Given the description of an element on the screen output the (x, y) to click on. 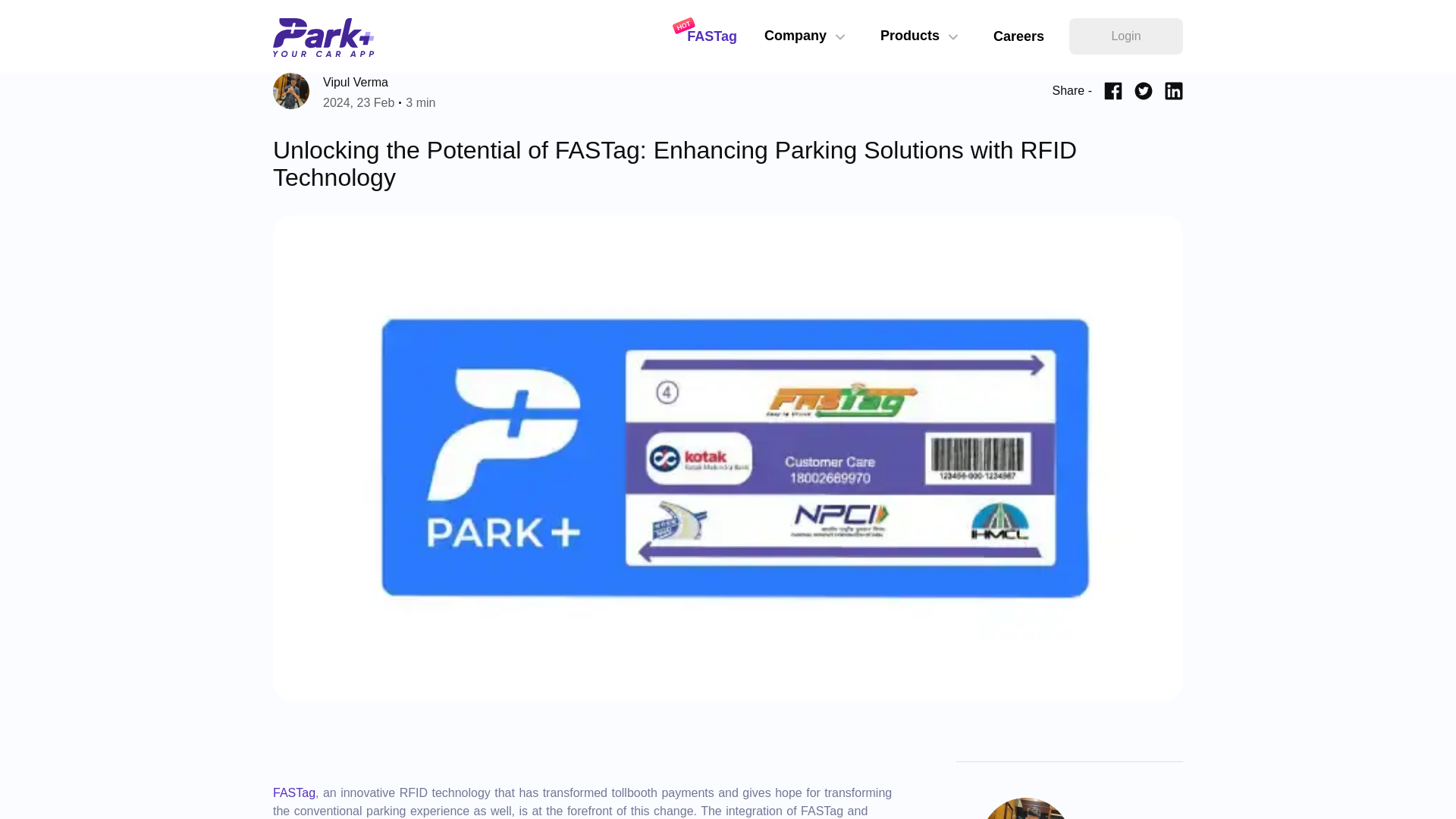
Login (1125, 36)
FASTag (354, 92)
